Given the description of an element on the screen output the (x, y) to click on. 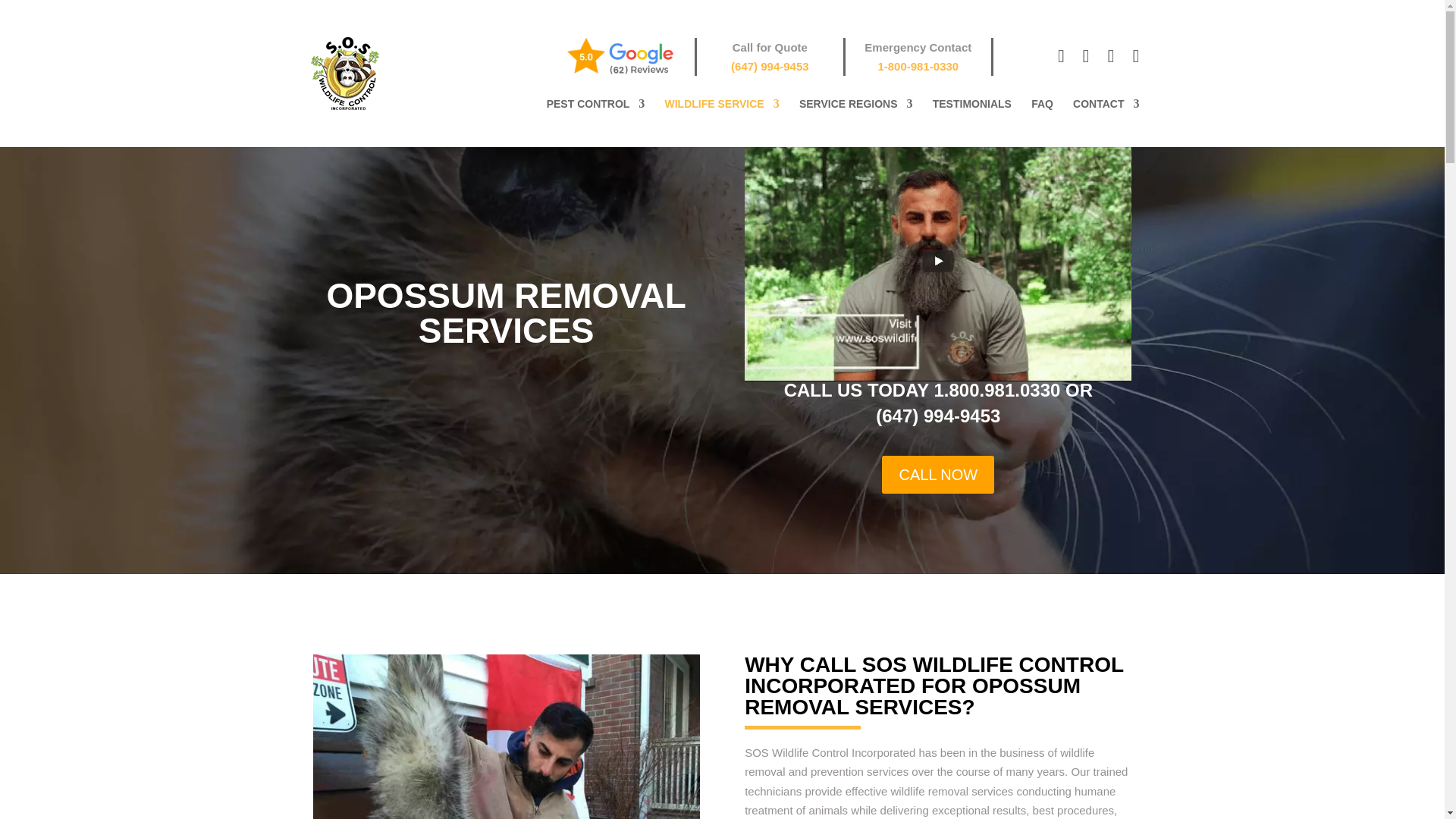
WILDLIFE SERVICE (721, 122)
OPOSSUM2 (505, 736)
video-image-man (937, 260)
PEST CONTROL (596, 122)
1-800-981-0330 (917, 65)
SERVICE REGIONS (855, 122)
